Given the description of an element on the screen output the (x, y) to click on. 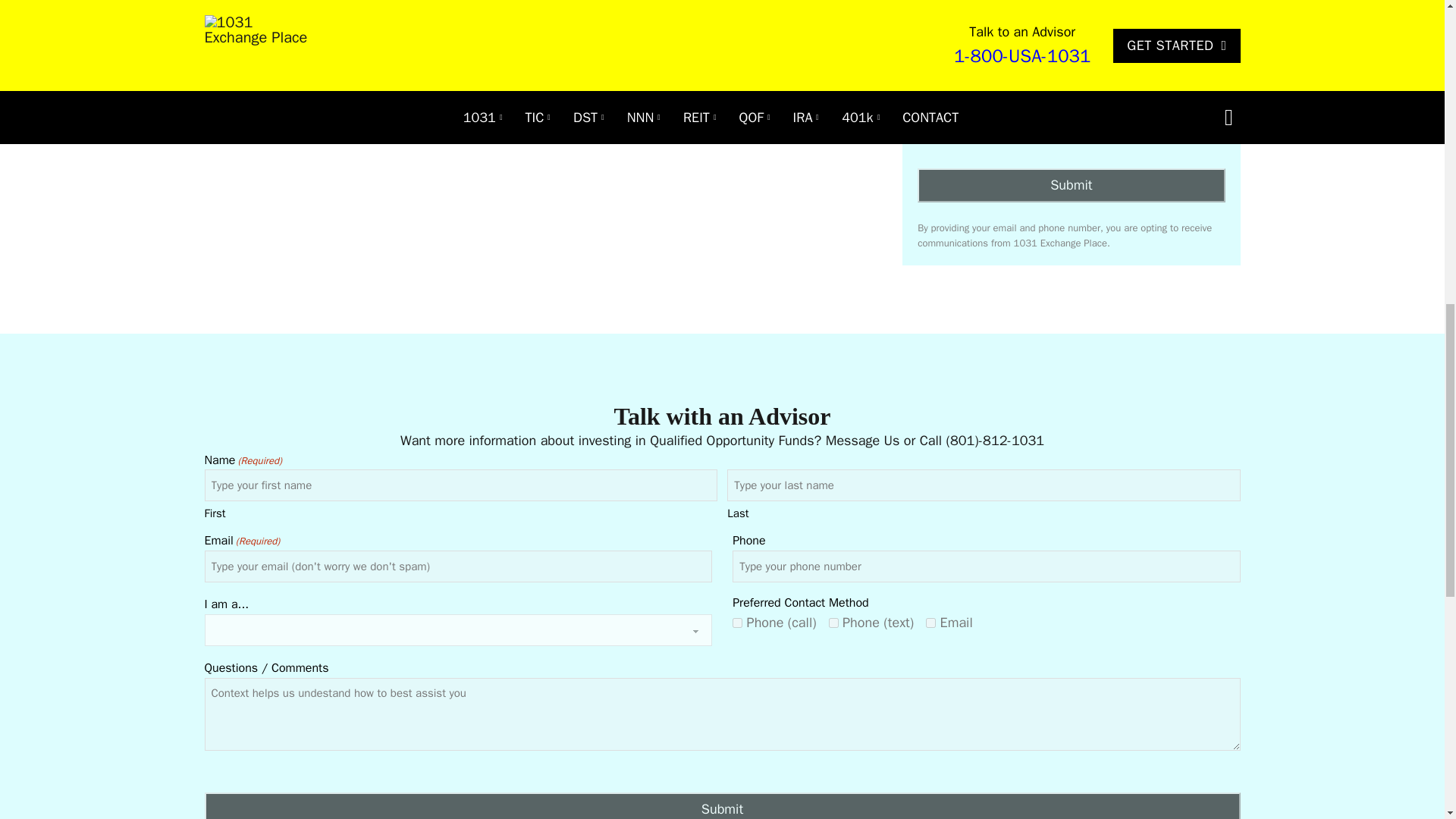
Submit (722, 805)
Email (931, 623)
Email (1115, 66)
Submit (1070, 185)
